Given the description of an element on the screen output the (x, y) to click on. 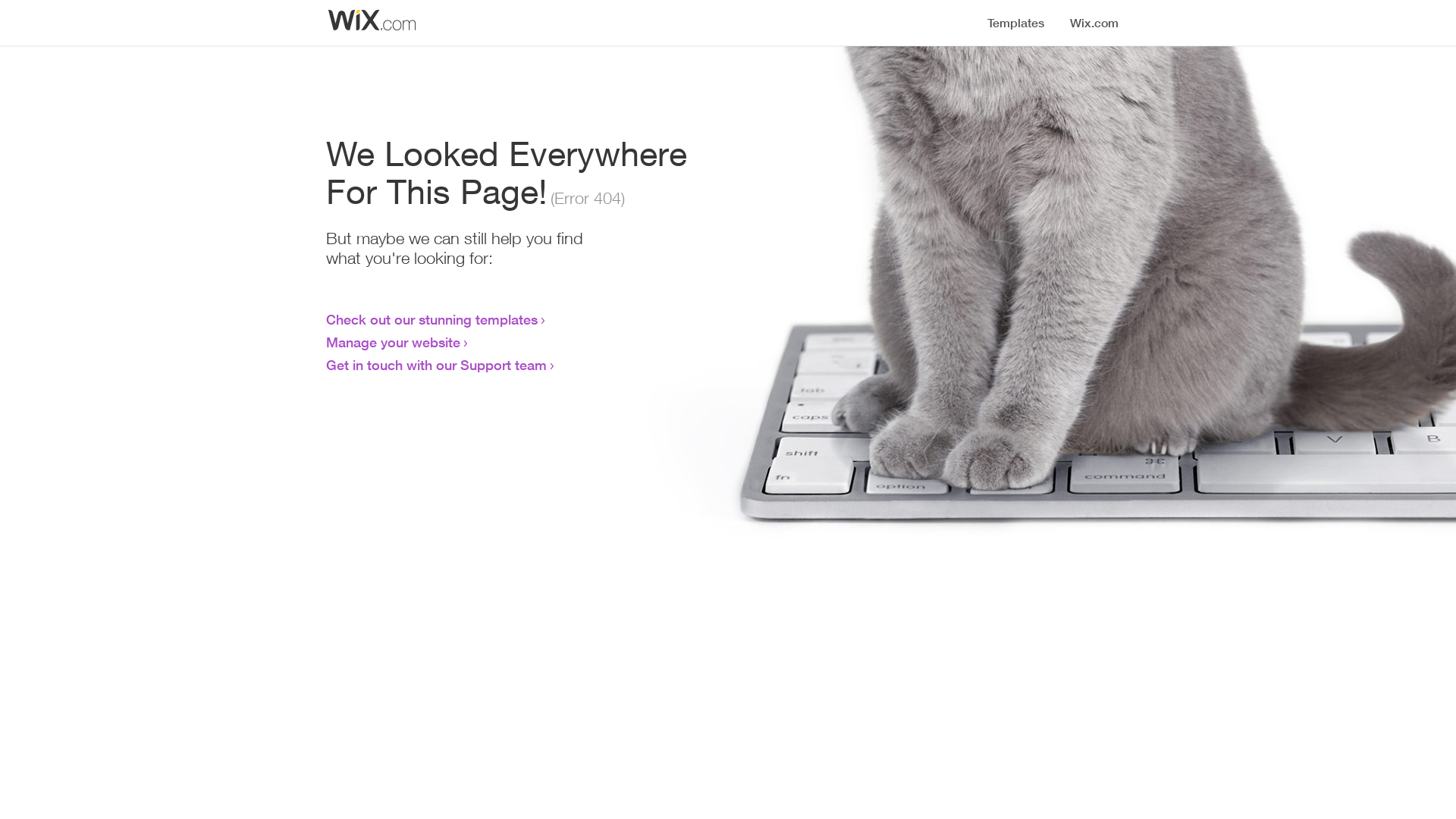
Check out our stunning templates Element type: text (431, 318)
Manage your website Element type: text (393, 341)
Get in touch with our Support team Element type: text (436, 364)
